Given the description of an element on the screen output the (x, y) to click on. 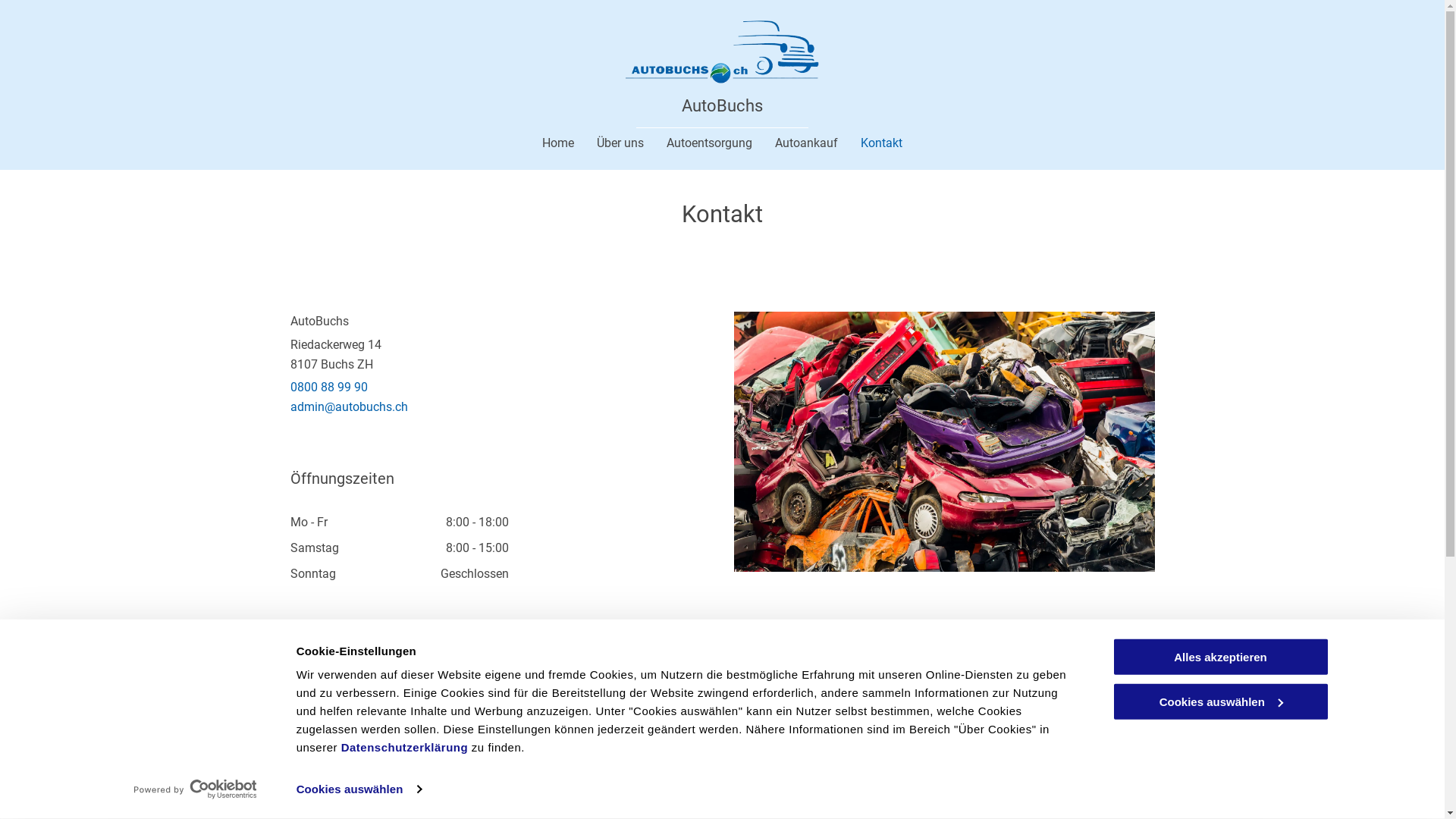
0800 88 99 90 Element type: text (328, 386)
AutoBuchs Element type: text (721, 105)
Kontakt Element type: text (881, 143)
Alles akzeptieren Element type: text (1219, 656)
Autoentsorgung Element type: text (709, 143)
admin@autobuchs.ch Element type: text (348, 406)
Autoankauf Element type: text (806, 143)
Home Element type: text (557, 143)
